Given the description of an element on the screen output the (x, y) to click on. 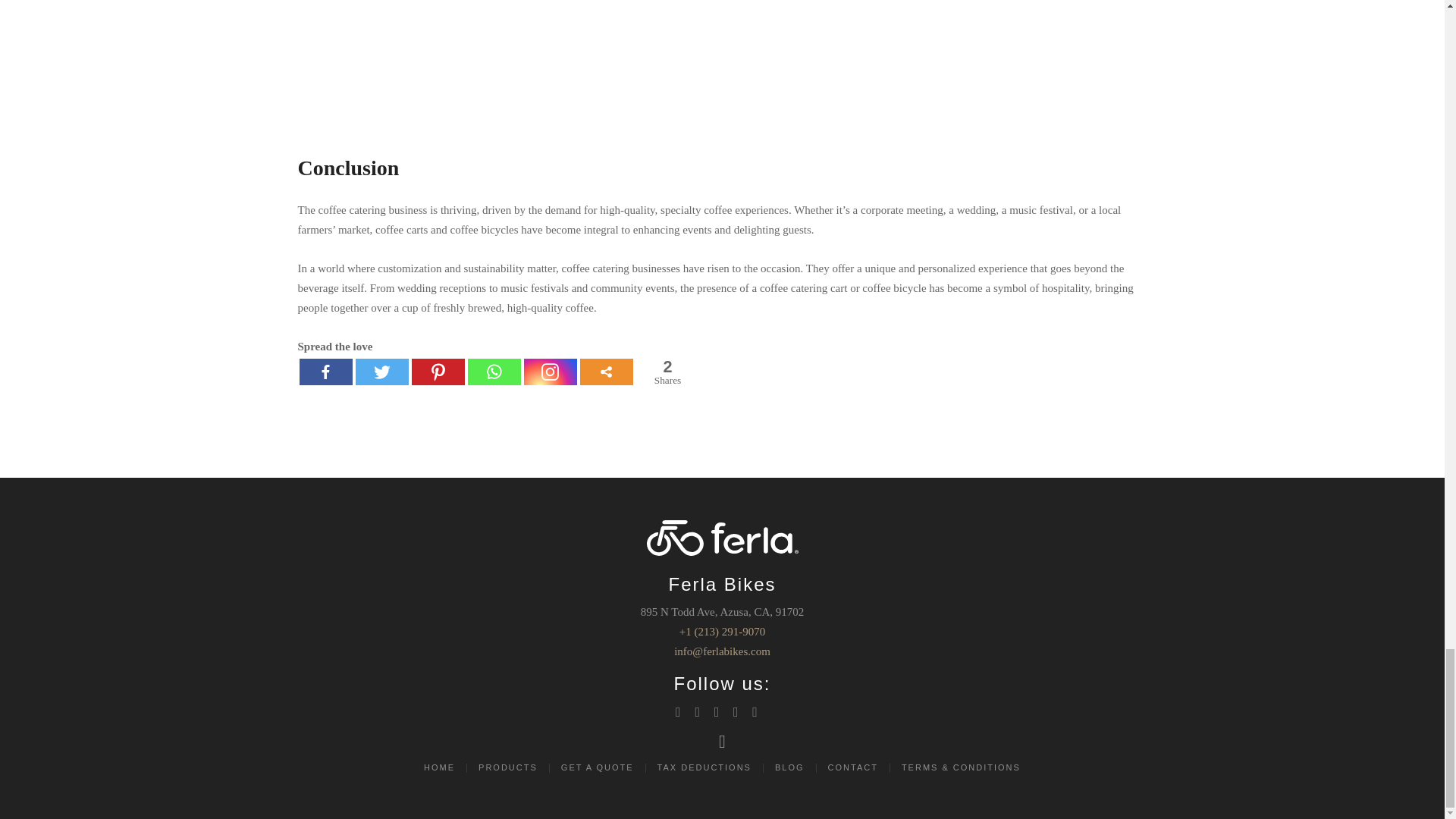
Twitter (381, 371)
Pinterest (437, 371)
Whatsapp (493, 371)
Total Shares (668, 371)
More (605, 371)
Instagram (549, 371)
Facebook (325, 371)
